Given the description of an element on the screen output the (x, y) to click on. 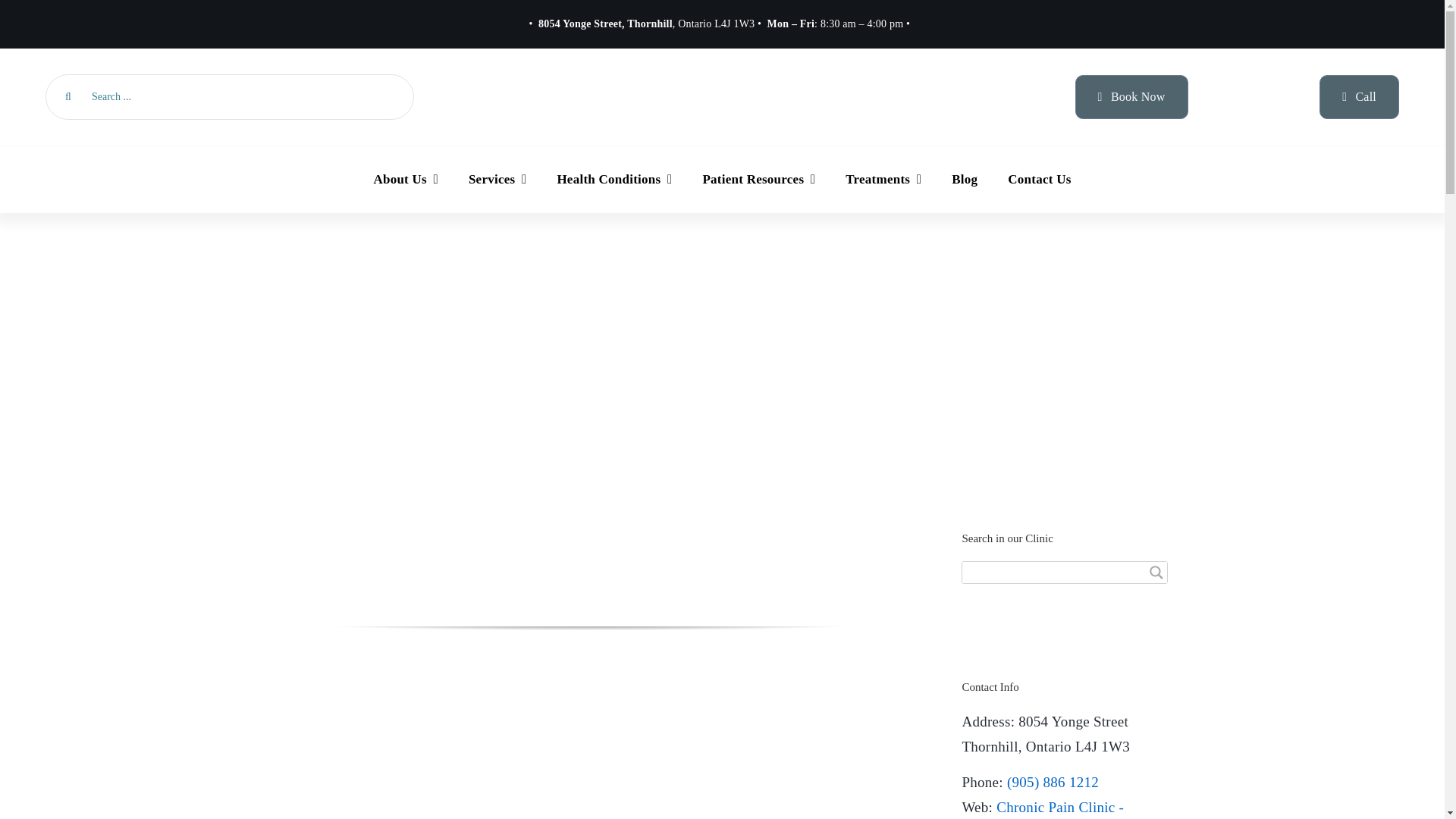
Call (1359, 96)
Book Now (1131, 96)
Book Today (1131, 96)
